Given the description of an element on the screen output the (x, y) to click on. 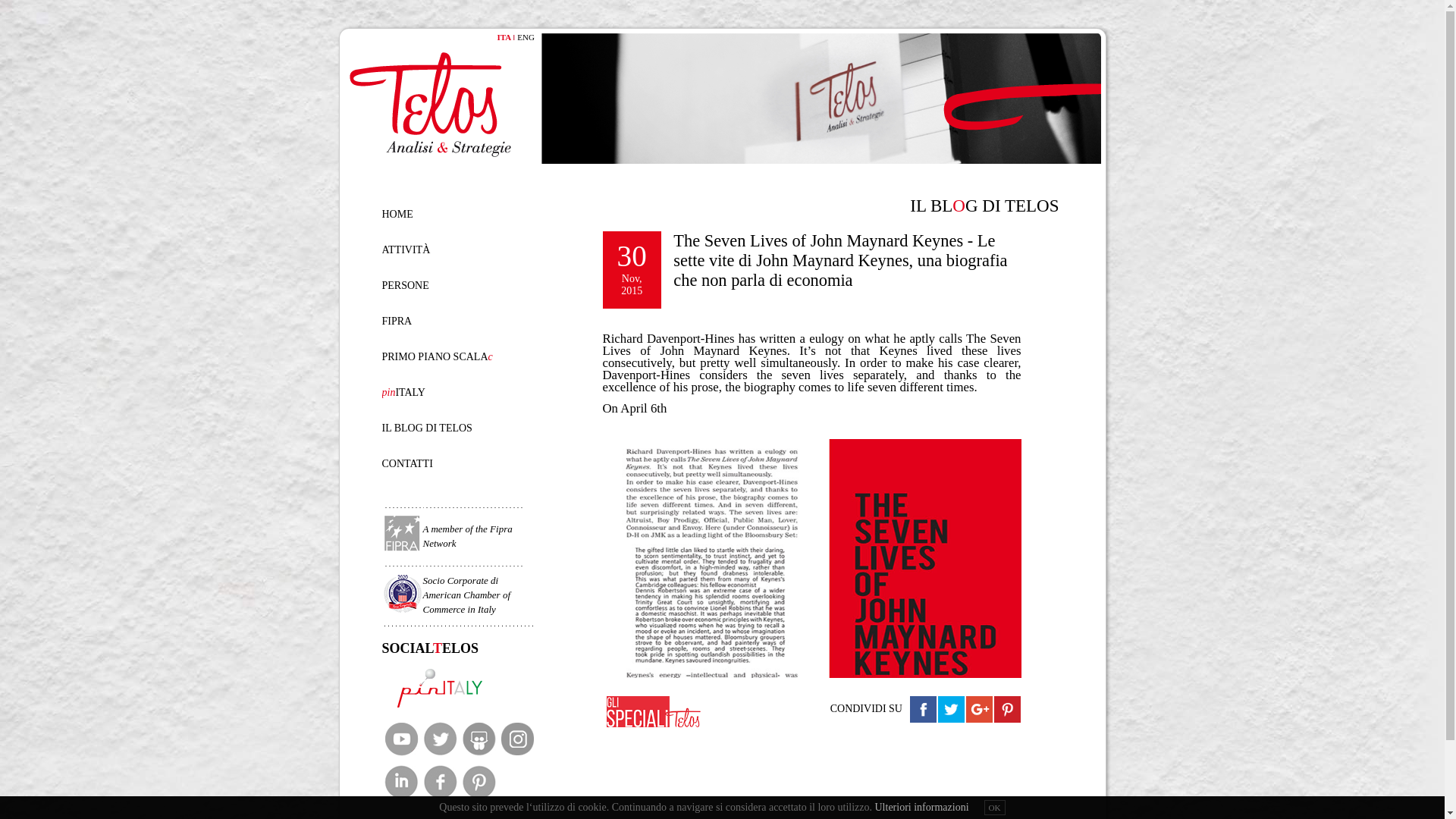
Ulteriori informazioni (922, 807)
OK (995, 807)
SlideShare (478, 740)
Facebook (439, 782)
HOME (397, 214)
ENG (525, 36)
Twitter (439, 740)
YouTube (400, 740)
Pinterest (478, 782)
Instagram (516, 740)
